Given the description of an element on the screen output the (x, y) to click on. 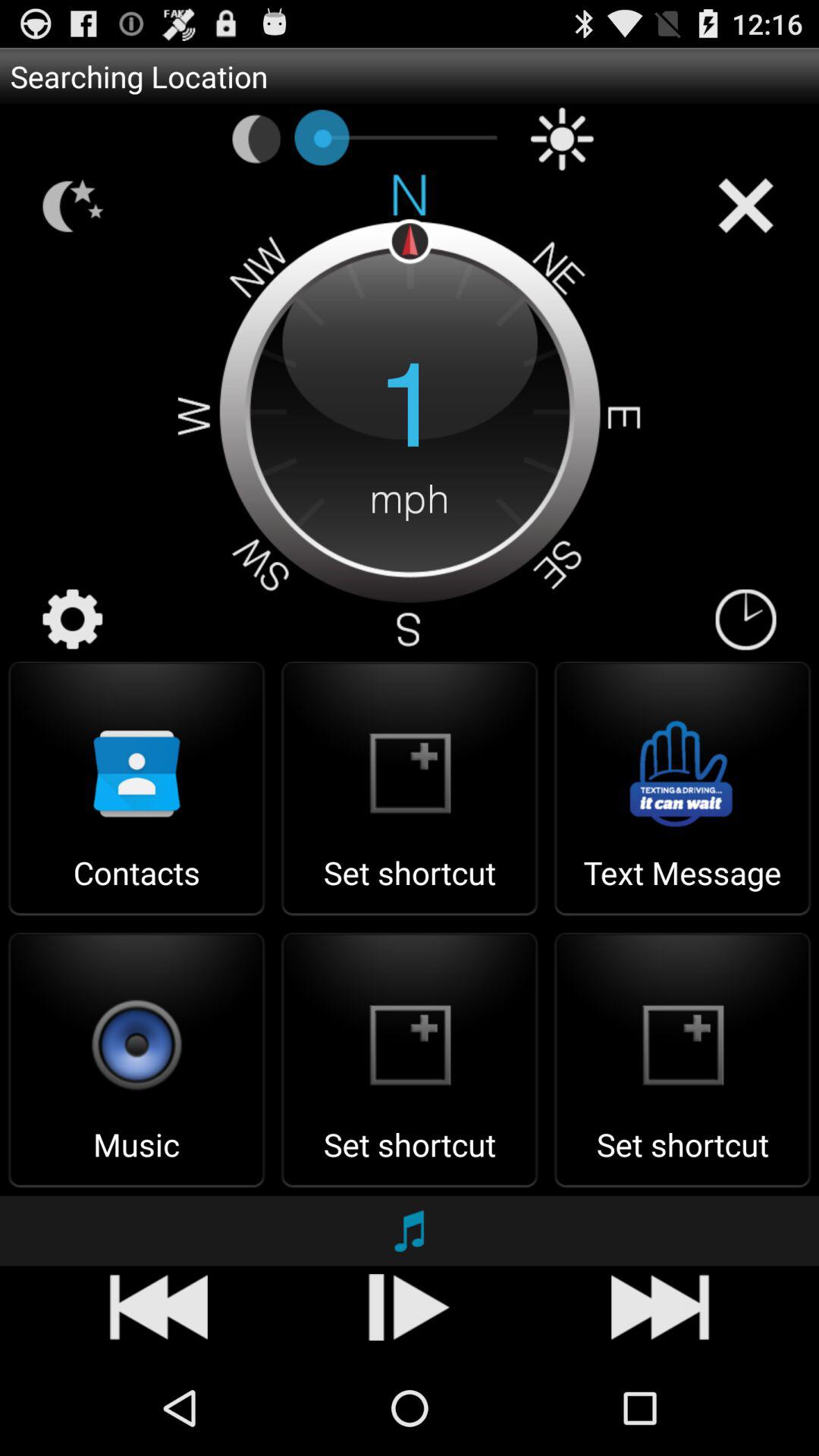
flip to contacts item (136, 887)
